Given the description of an element on the screen output the (x, y) to click on. 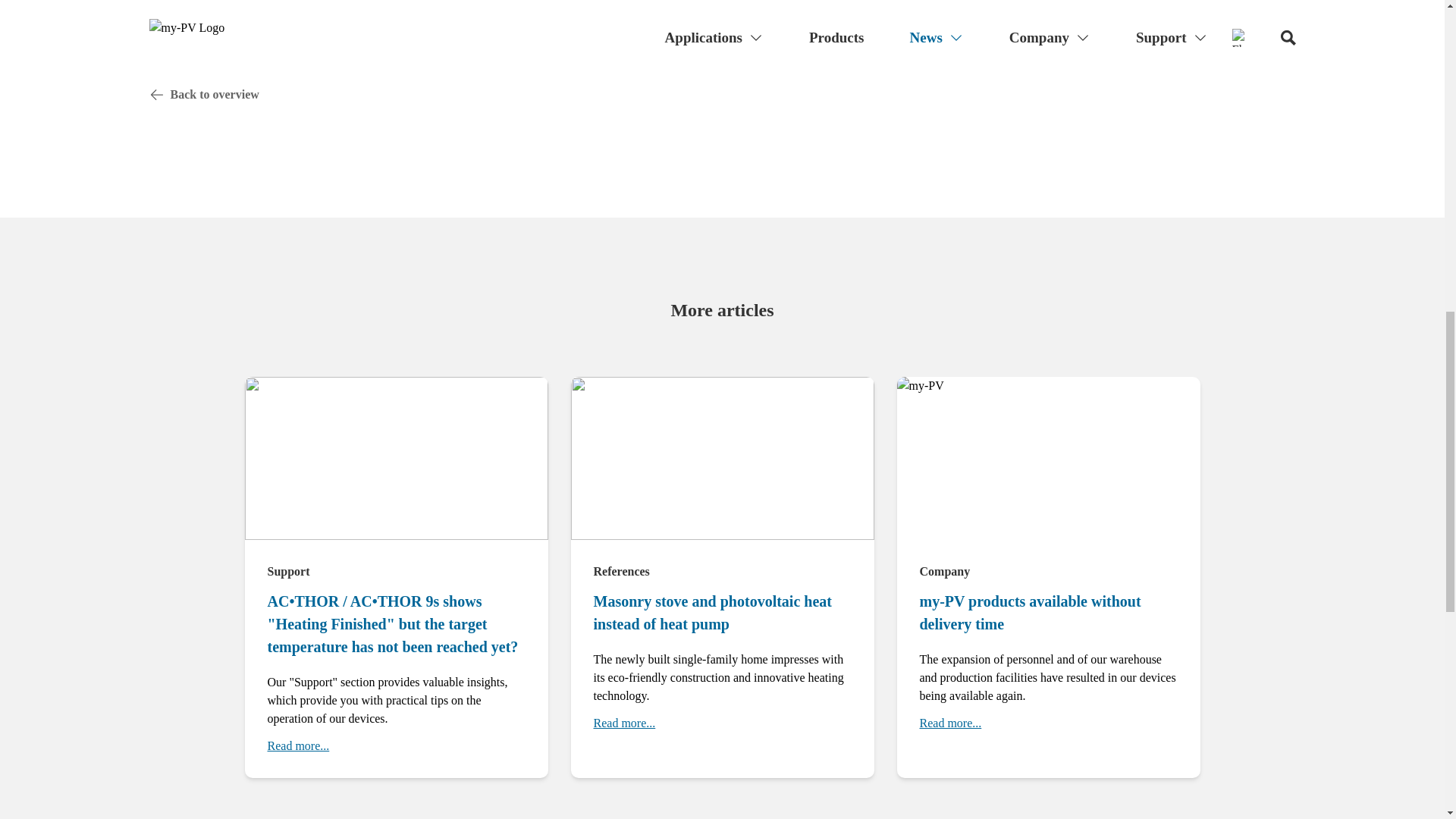
Read more... (623, 723)
Read more... (297, 746)
Back to overview (721, 94)
Read more... (949, 723)
